Given the description of an element on the screen output the (x, y) to click on. 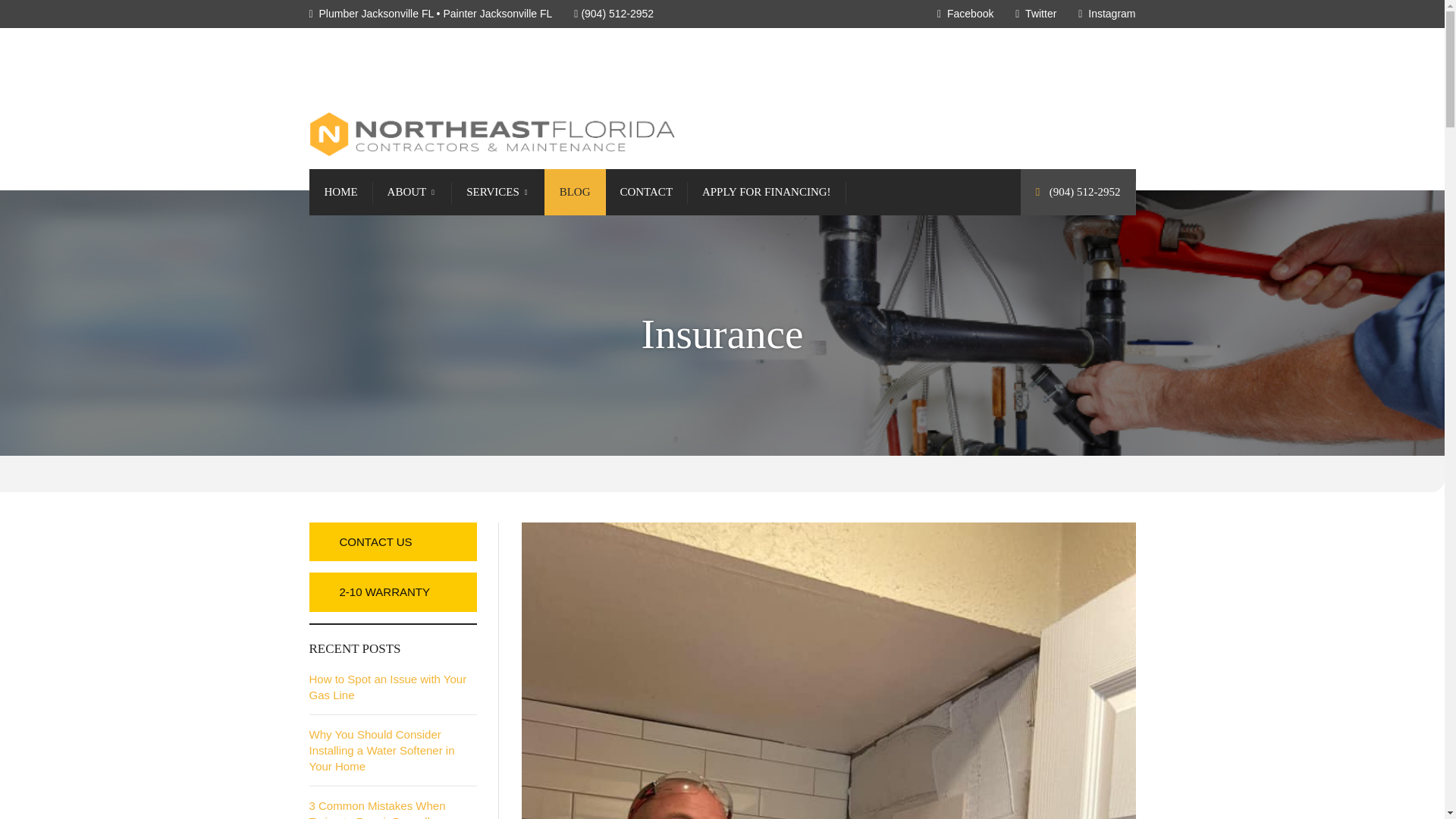
BLOG (574, 191)
Instagram (1106, 13)
ABOUT (412, 191)
APPLY FOR FINANCING! (766, 191)
SERVICES (497, 191)
Twitter (1035, 13)
HOME (340, 191)
CONTACT (645, 191)
Facebook (965, 13)
